Given the description of an element on the screen output the (x, y) to click on. 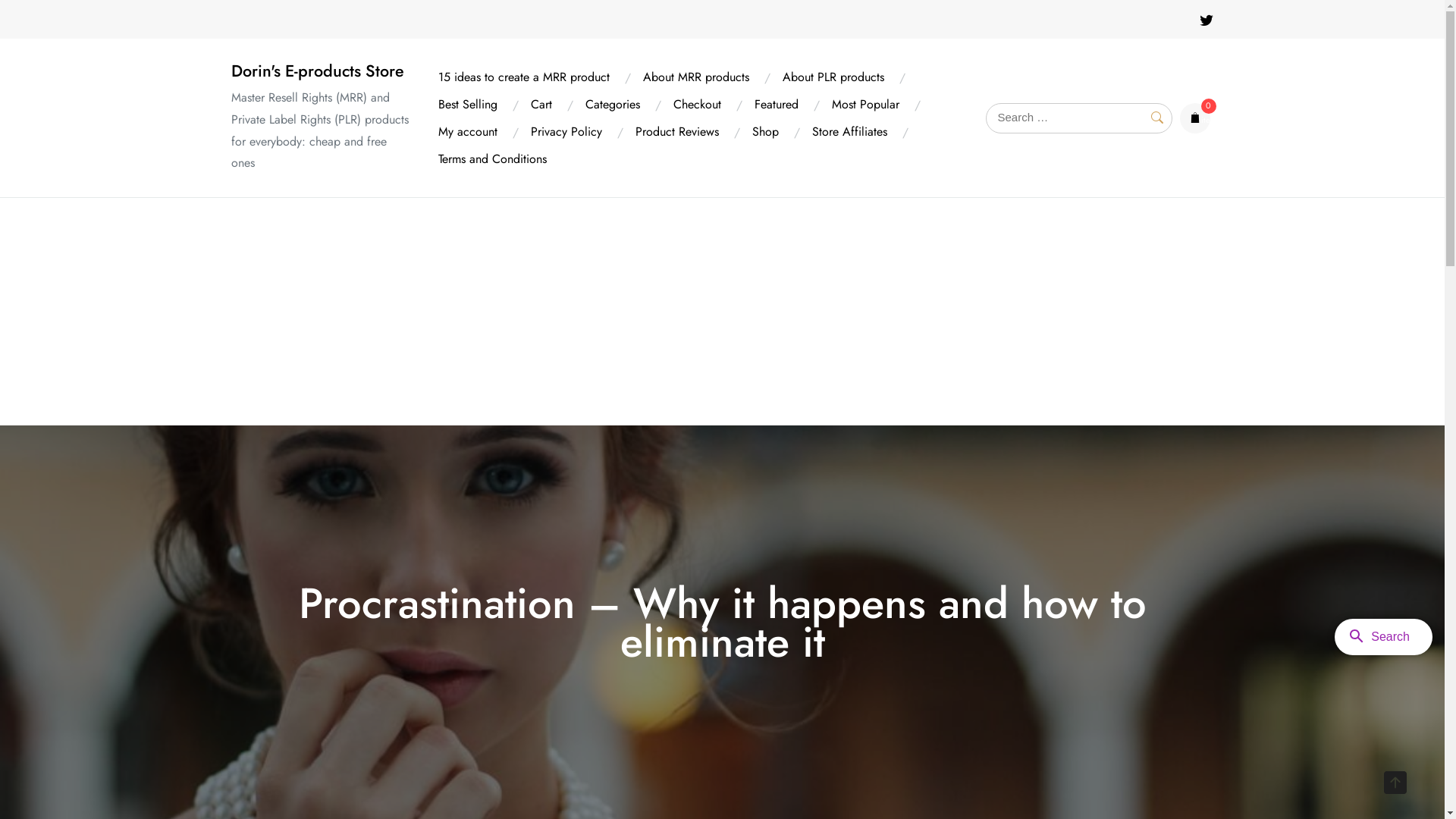
My account Element type: text (467, 131)
Terms and Conditions Element type: text (492, 158)
Cart Element type: text (541, 104)
Store Affiliates Element type: text (849, 131)
Dorin's E-products Store Element type: text (316, 70)
Categories Element type: text (612, 104)
Most Popular Element type: text (865, 104)
Checkout Element type: text (697, 104)
Advertisement Element type: hover (721, 311)
Featured Element type: text (776, 104)
Privacy Policy Element type: text (566, 131)
Product Reviews Element type: text (677, 131)
About MRR products Element type: text (695, 77)
About PLR products Element type: text (833, 77)
Shop Element type: text (765, 131)
0 items Element type: text (1194, 118)
Best Selling Element type: text (467, 104)
15 ideas to create a MRR product Element type: text (523, 77)
